Given the description of an element on the screen output the (x, y) to click on. 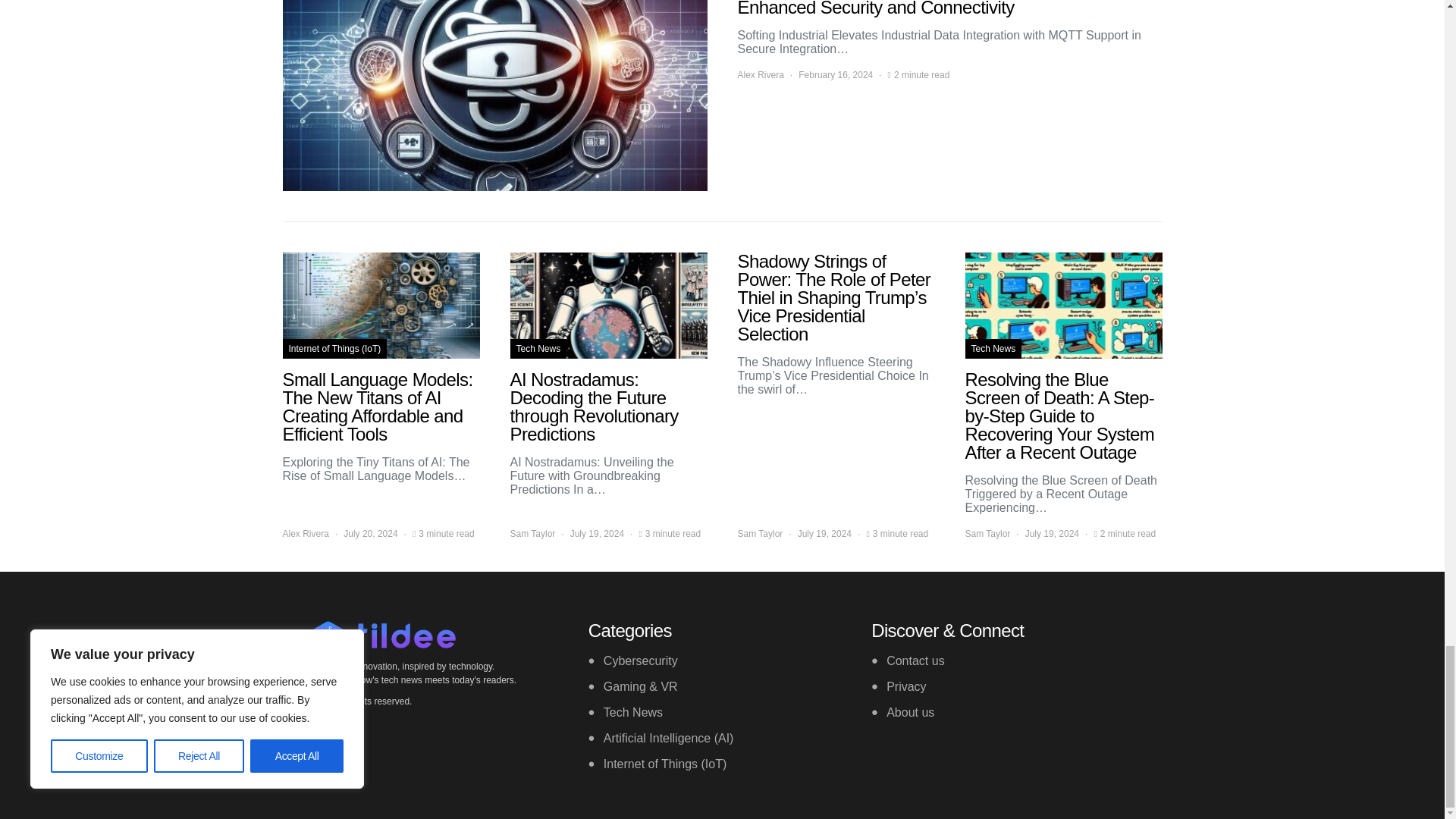
View all posts by Sam Taylor (531, 533)
View all posts by Sam Taylor (759, 533)
View all posts by Alex Rivera (305, 533)
View all posts by Sam Taylor (986, 533)
View all posts by Alex Rivera (759, 74)
